Given the description of an element on the screen output the (x, y) to click on. 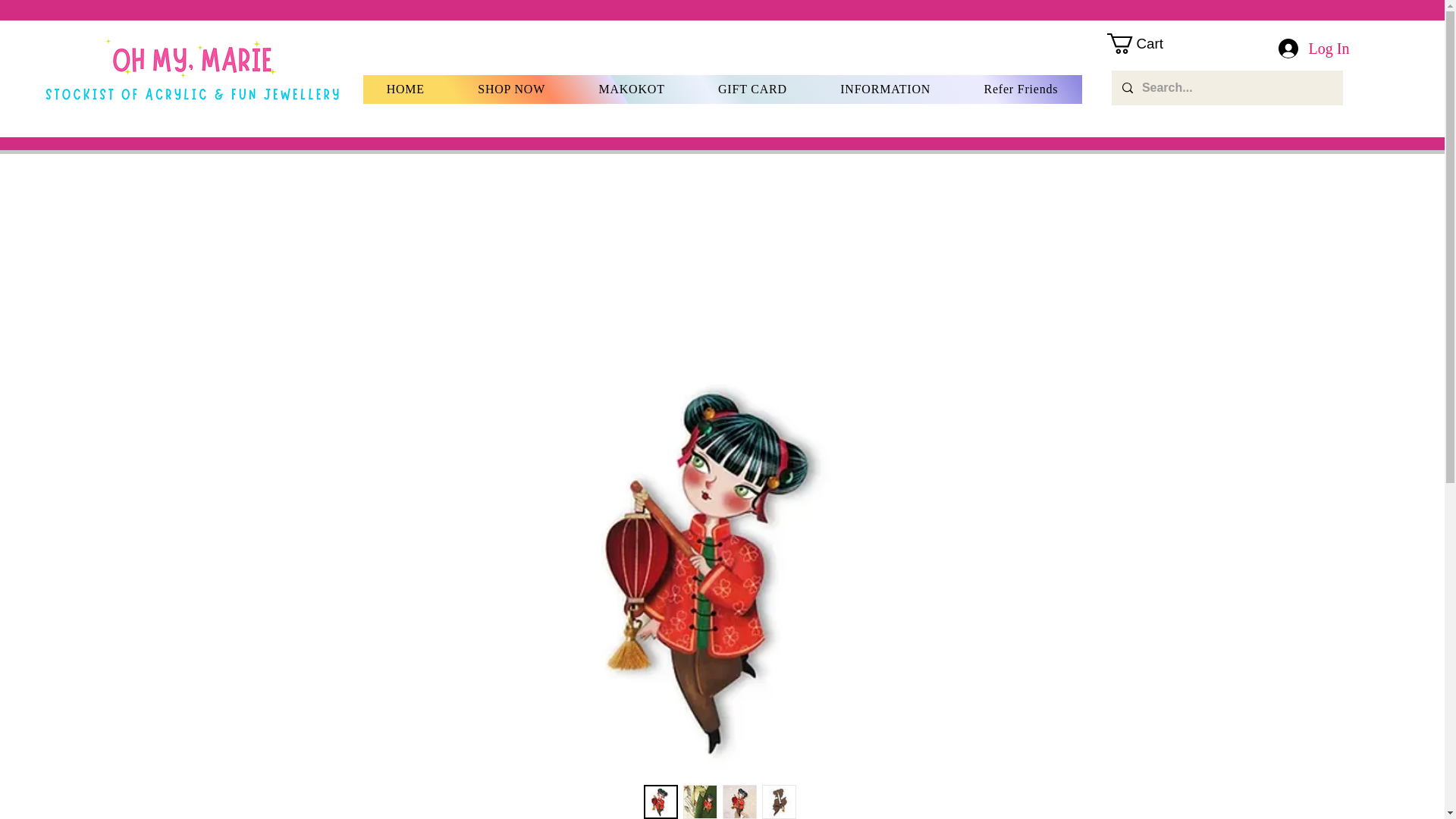
MAKOKOT (631, 89)
Cart (1219, 119)
SHOP NOW (511, 89)
Refer Friends (1020, 89)
Log In (1313, 48)
GIFT CARD (752, 89)
Cart (1146, 43)
HOME (405, 89)
INFORMATION (884, 89)
Cart (1146, 43)
Cart (1219, 119)
